Given the description of an element on the screen output the (x, y) to click on. 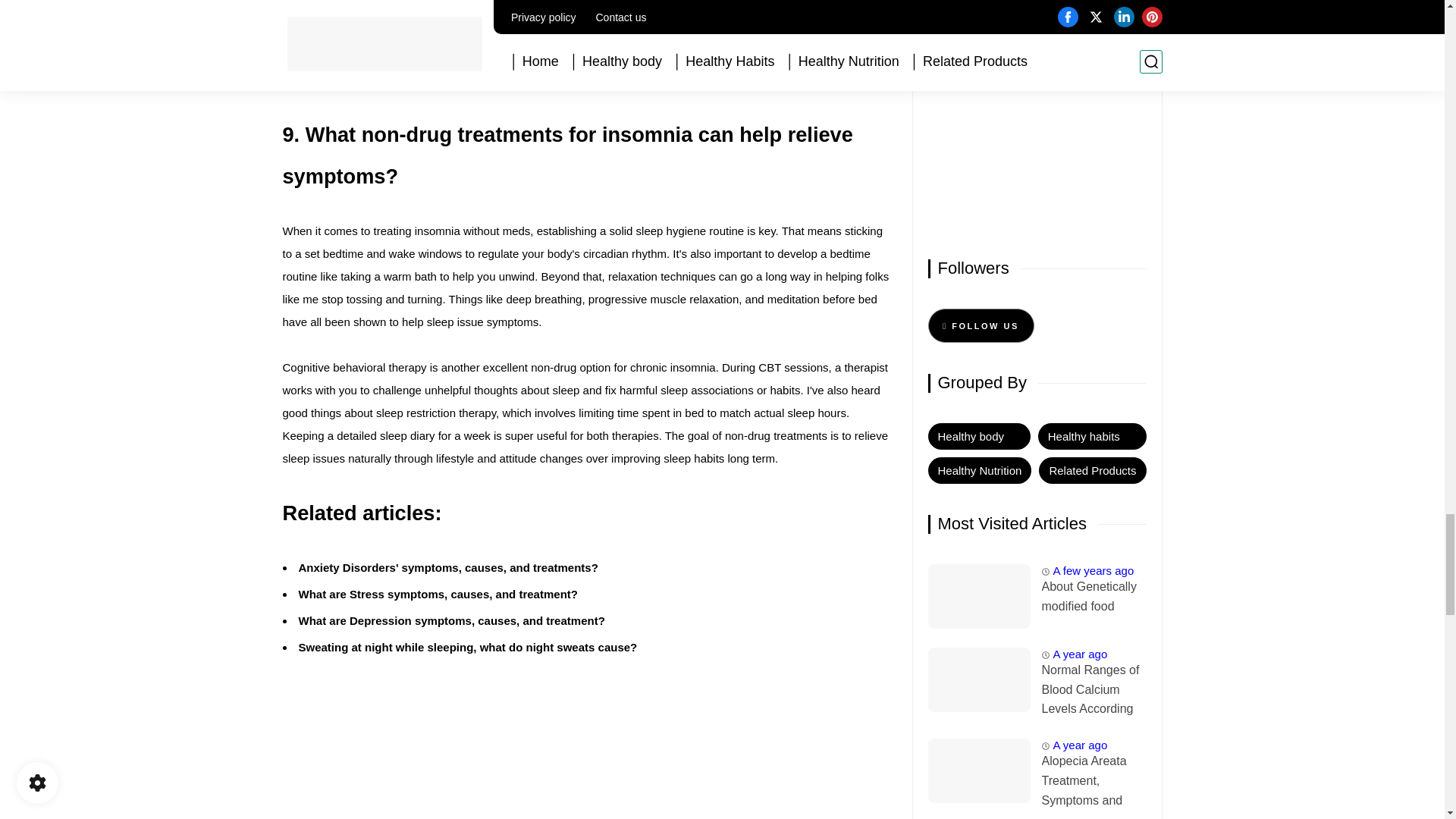
What are Depression symptoms, causes, and treatment? (451, 620)
What are Stress symptoms, causes, and treatment? (438, 594)
Anxiety Disorders' symptoms, causes, and treatments? (448, 567)
